Given the description of an element on the screen output the (x, y) to click on. 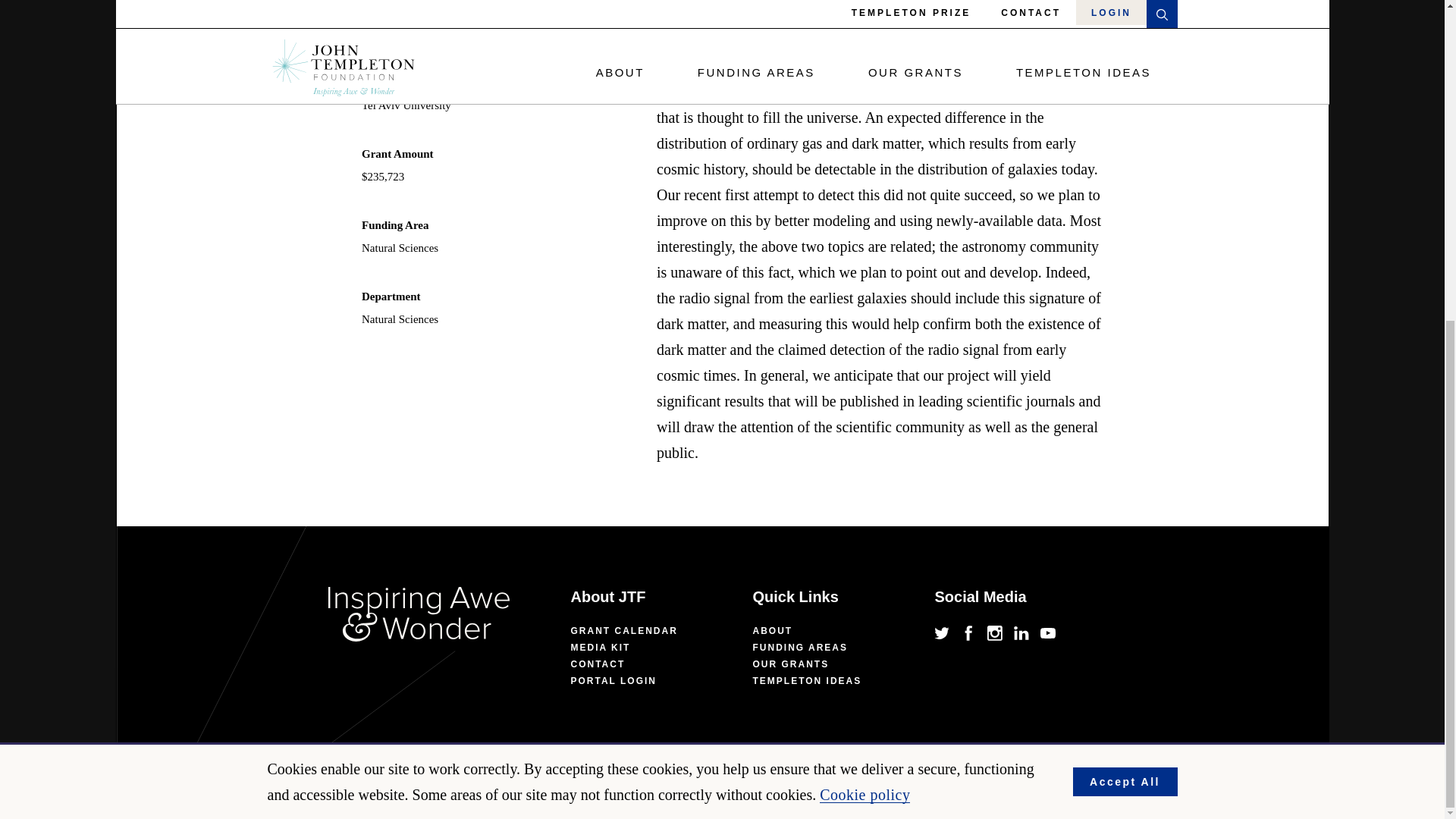
Sign Up (1032, 270)
